Given the description of an element on the screen output the (x, y) to click on. 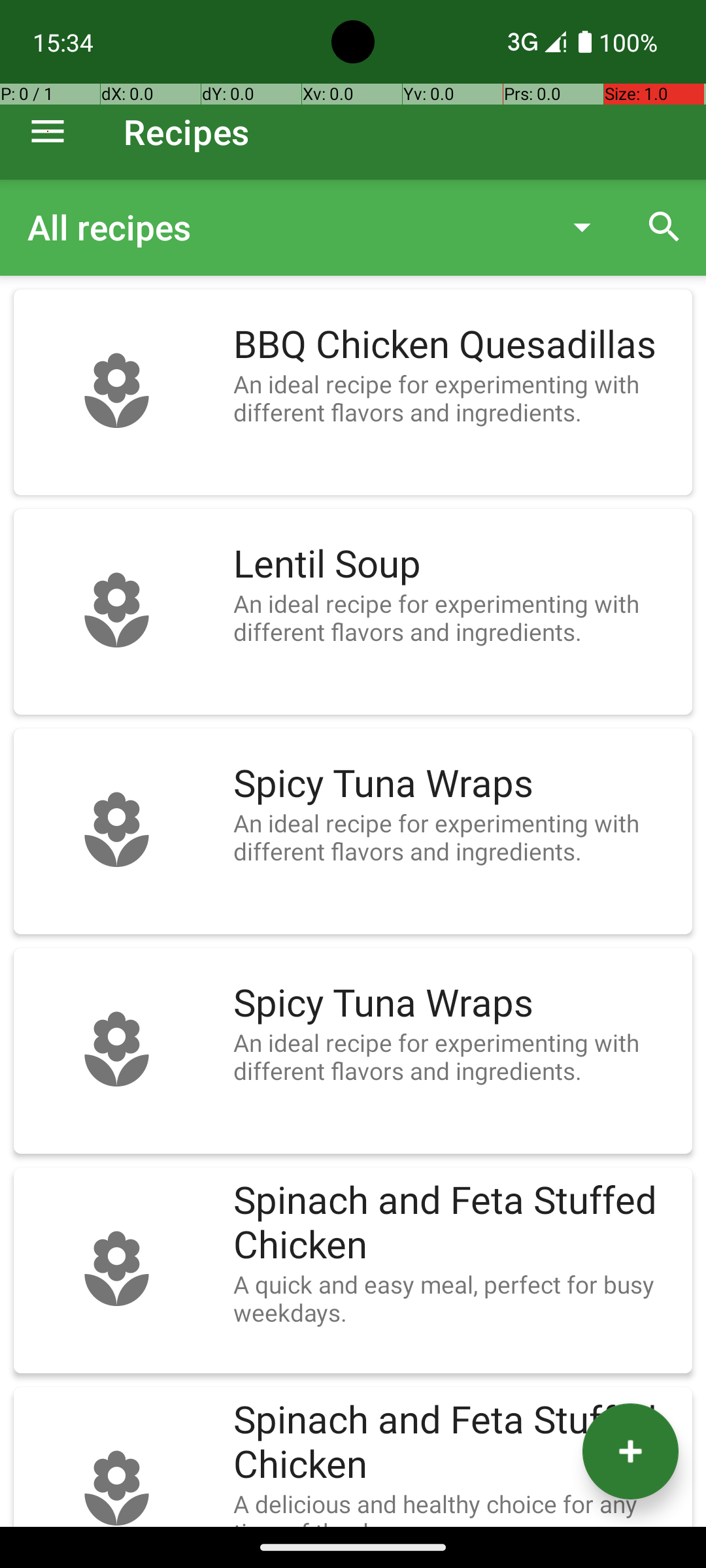
Lentil Soup Element type: android.widget.TextView (455, 564)
Spicy Tuna Wraps Element type: android.widget.TextView (455, 783)
Spinach and Feta Stuffed Chicken Element type: android.widget.TextView (455, 1222)
